Given the description of an element on the screen output the (x, y) to click on. 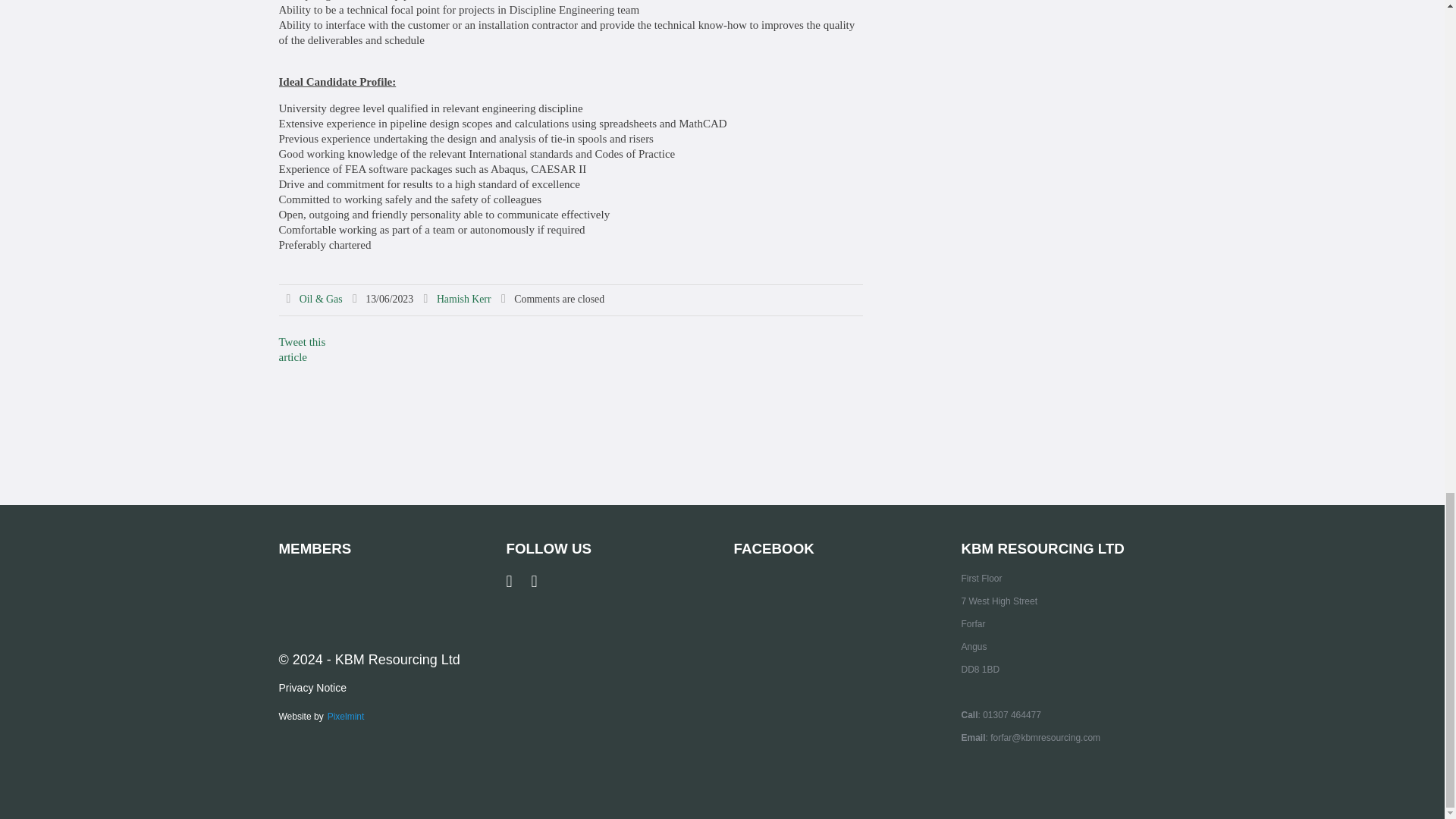
Pixelmint (346, 714)
01307 464477 (1011, 715)
Hamish Kerr (464, 298)
Privacy Notice (312, 686)
Tweet this article (302, 349)
Posts by Hamish Kerr (464, 298)
